Given the description of an element on the screen output the (x, y) to click on. 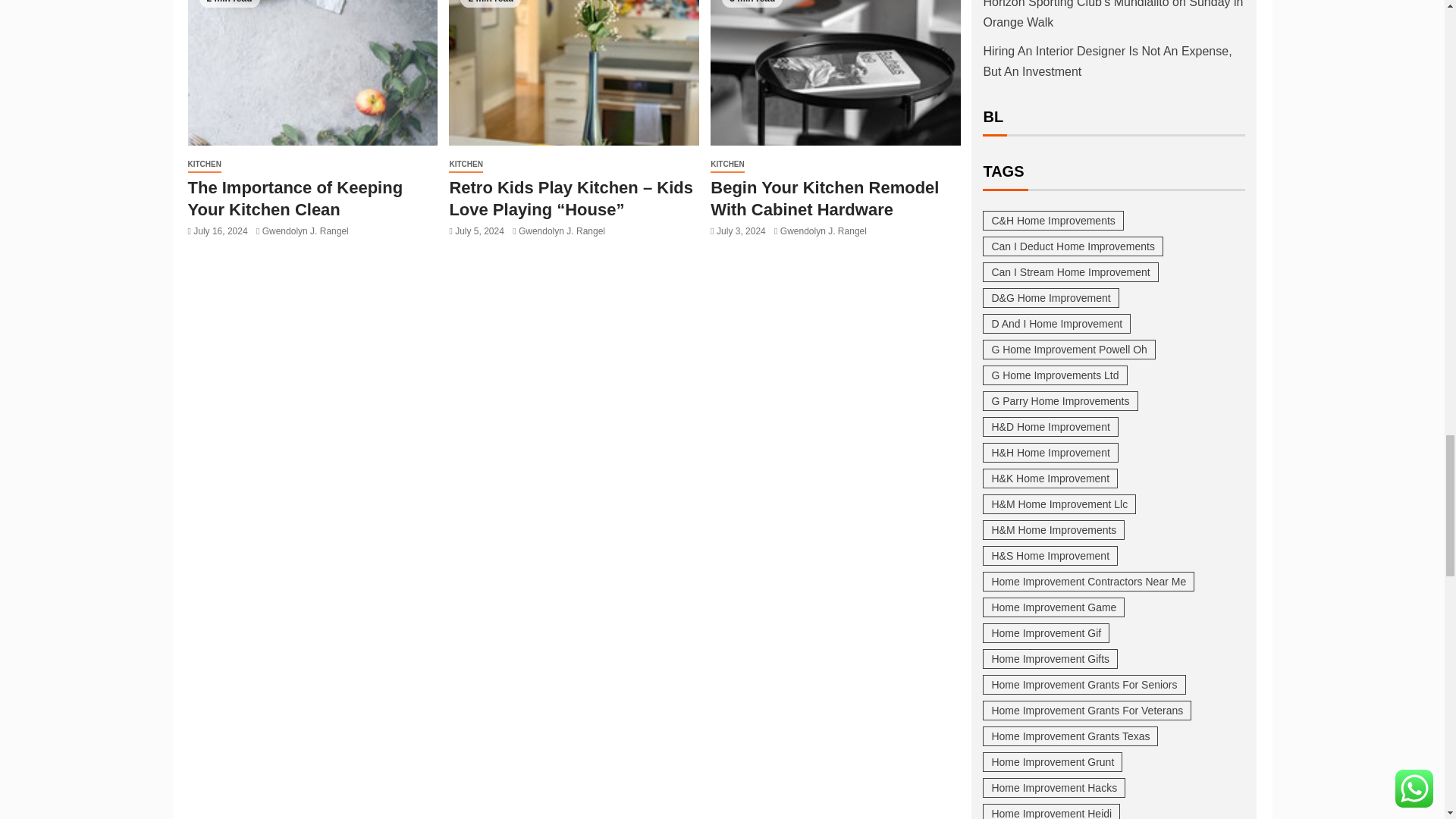
The Importance of Keeping Your Kitchen Clean (312, 72)
Begin Your Kitchen Remodel With Cabinet Hardware (835, 72)
